Given the description of an element on the screen output the (x, y) to click on. 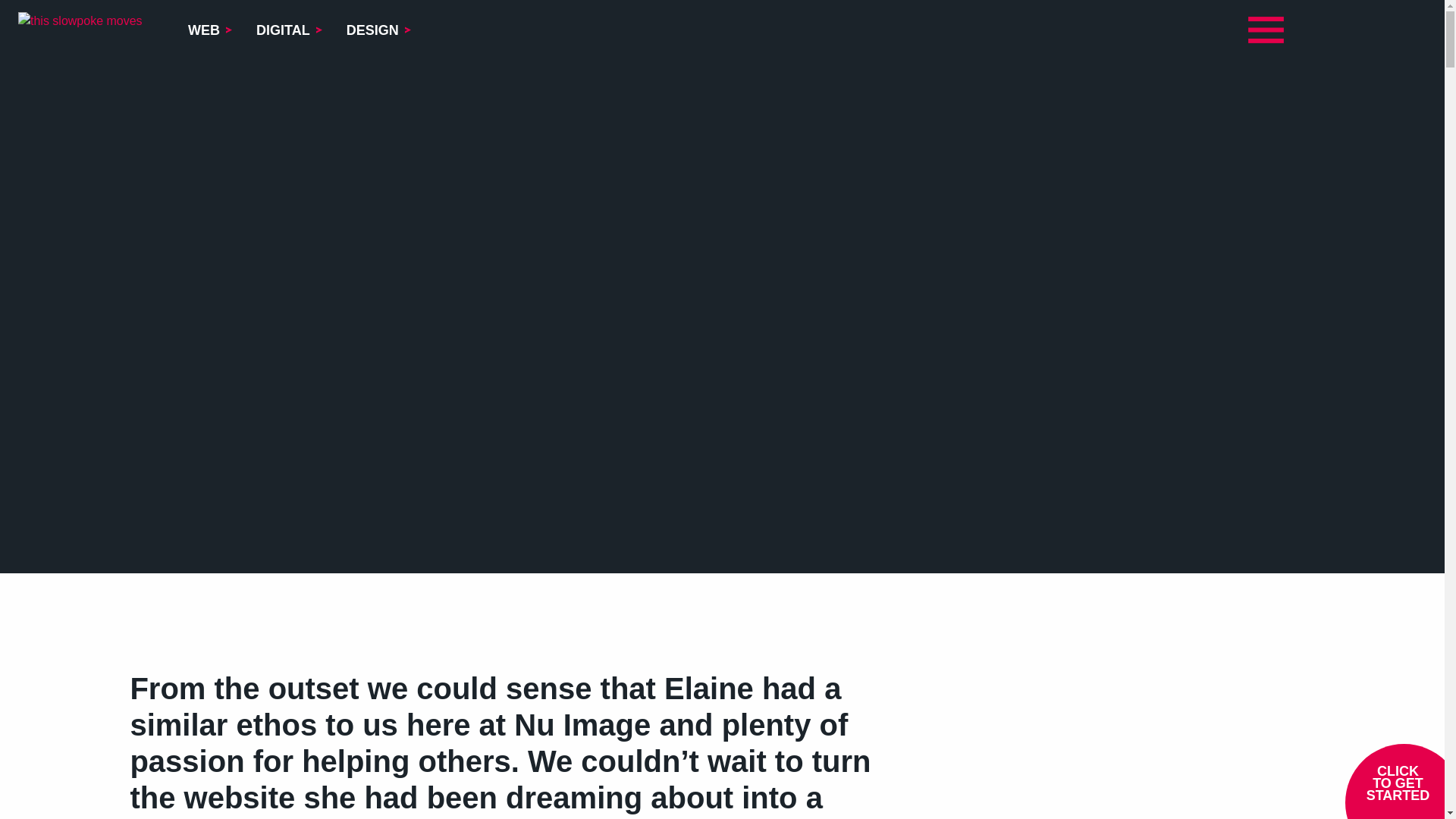
DIGITAL (288, 29)
DESIGN (378, 29)
WEB (209, 29)
